Given the description of an element on the screen output the (x, y) to click on. 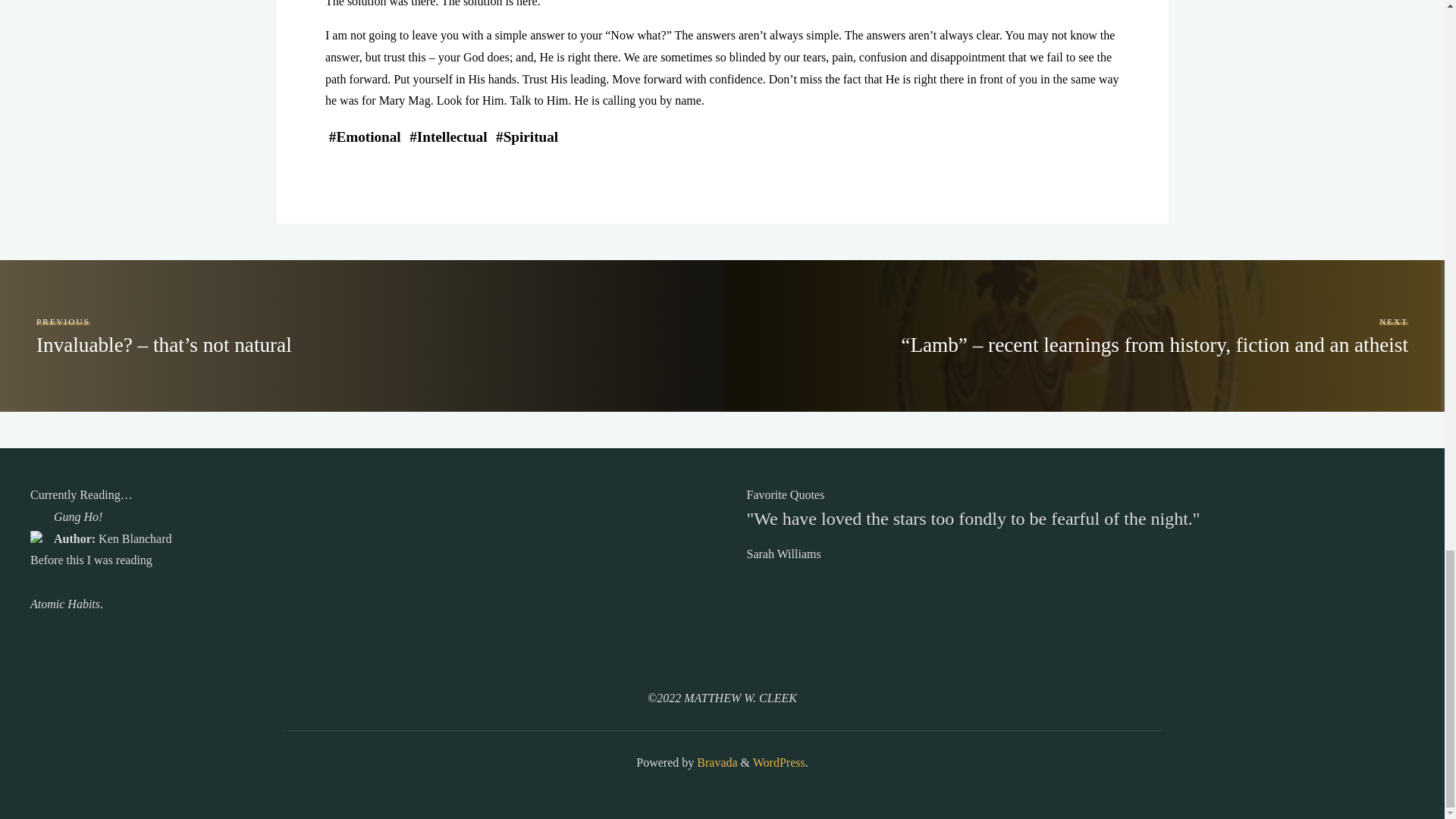
Bravada WordPress Theme by Cryout Creations (715, 762)
Semantic Personal Publishing Platform (778, 762)
